Given the description of an element on the screen output the (x, y) to click on. 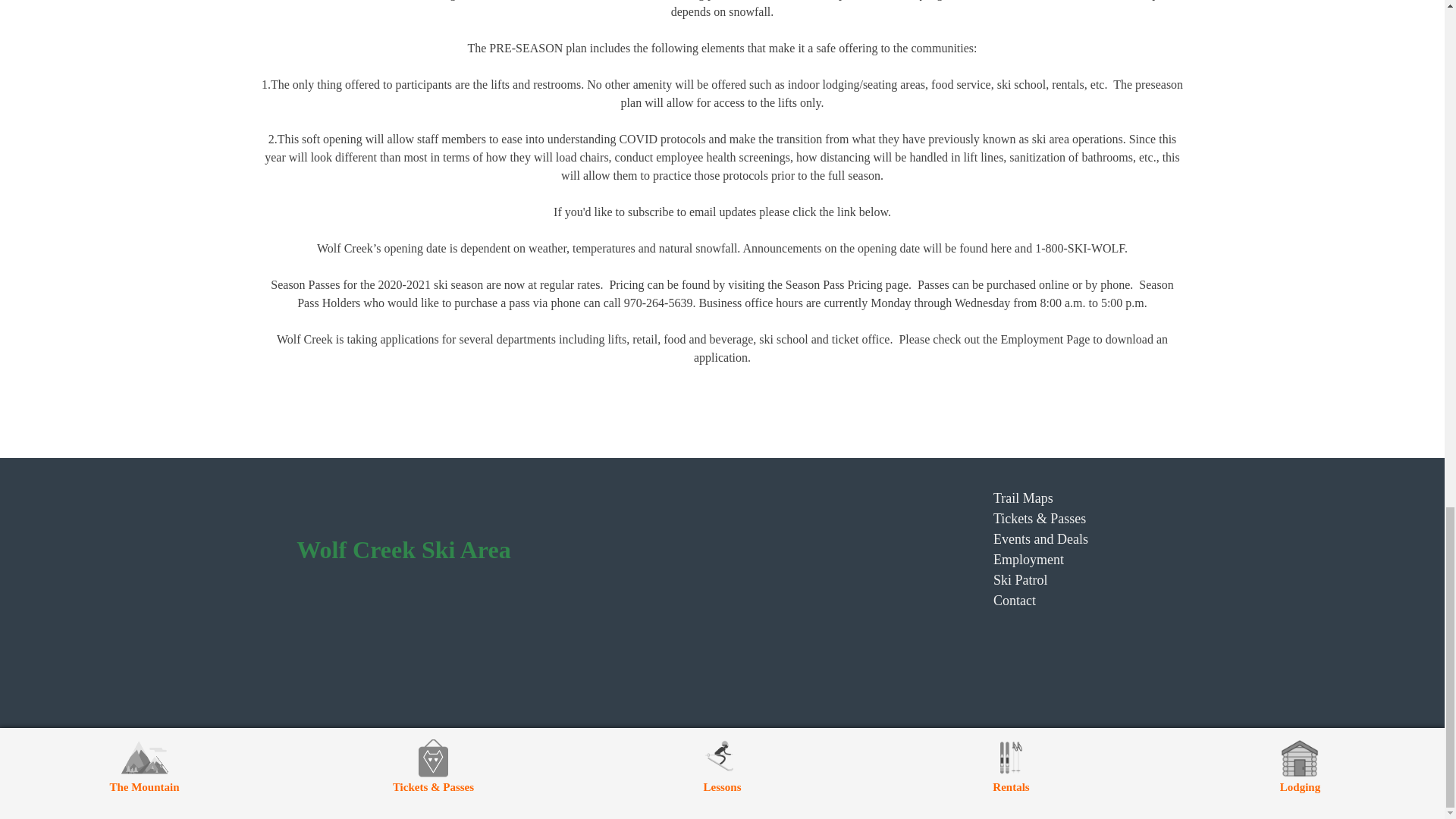
Ski Patrol (1039, 580)
Employment (1039, 559)
Contact (1039, 600)
Wolf Creek Ski Area (404, 549)
Events and Deals (1039, 539)
Trail Maps (1039, 498)
